Given the description of an element on the screen output the (x, y) to click on. 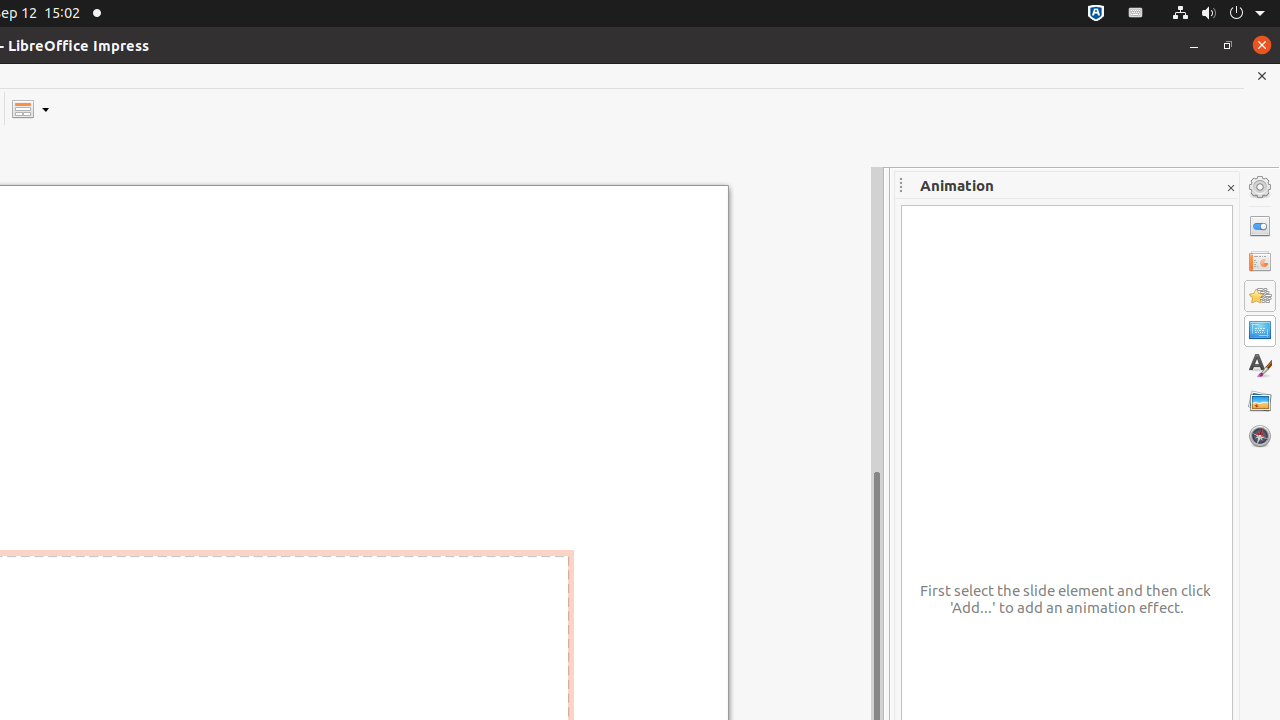
Navigator Element type: radio-button (1260, 436)
Styles Element type: radio-button (1260, 366)
System Element type: menu (1218, 13)
Slide Transition Element type: radio-button (1260, 261)
Animation Element type: radio-button (1260, 296)
